Given the description of an element on the screen output the (x, y) to click on. 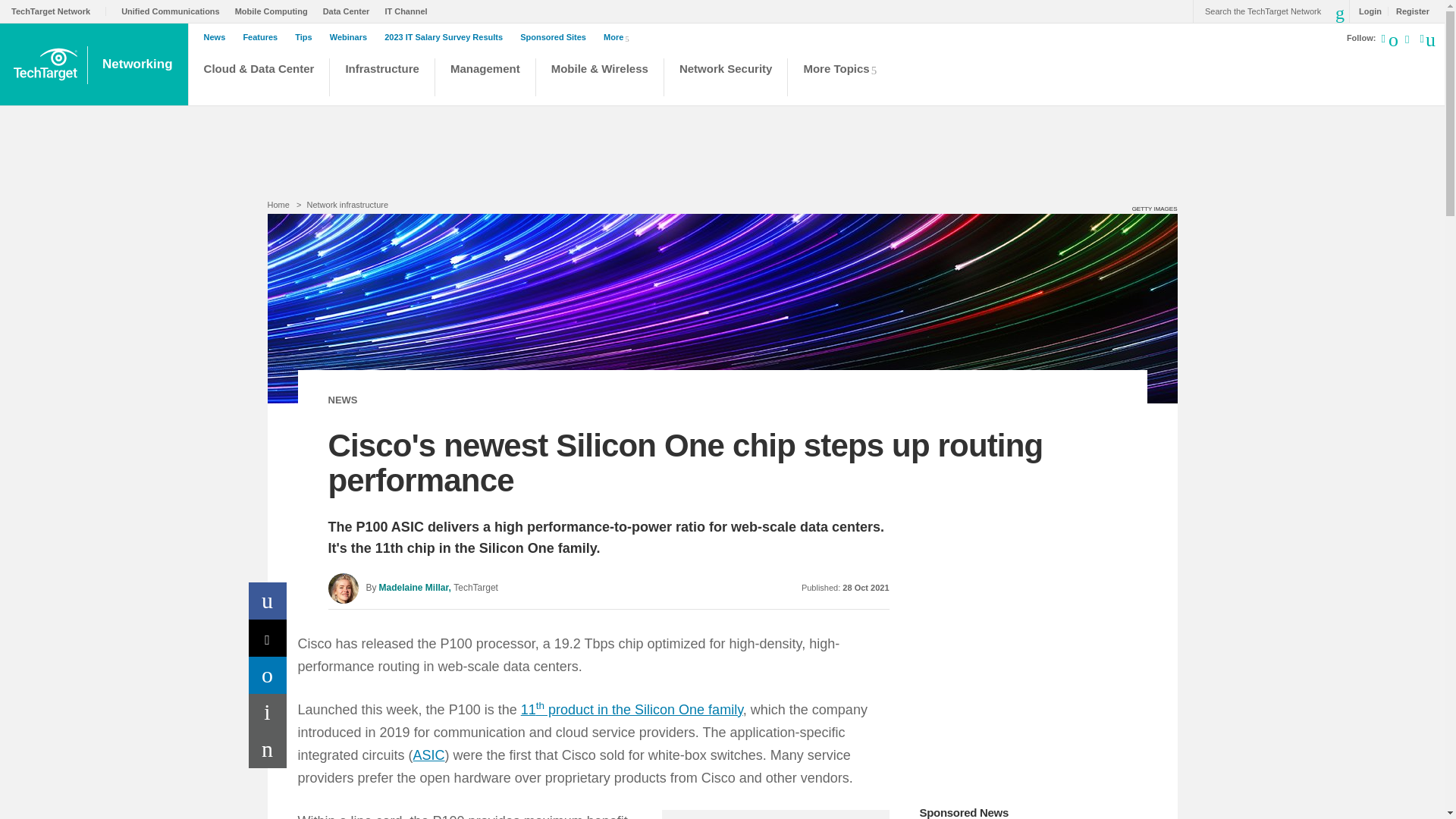
Webinars (352, 36)
Mobile Computing (274, 10)
Features (264, 36)
Management (484, 79)
Share on X (267, 637)
Print This Page (267, 712)
Network Security (726, 79)
More (619, 36)
Tips (306, 36)
Share on LinkedIn (267, 674)
Infrastructure (382, 79)
2023 IT Salary Survey Results (447, 36)
Networking (138, 64)
More Topics (844, 79)
Login (1366, 10)
